Given the description of an element on the screen output the (x, y) to click on. 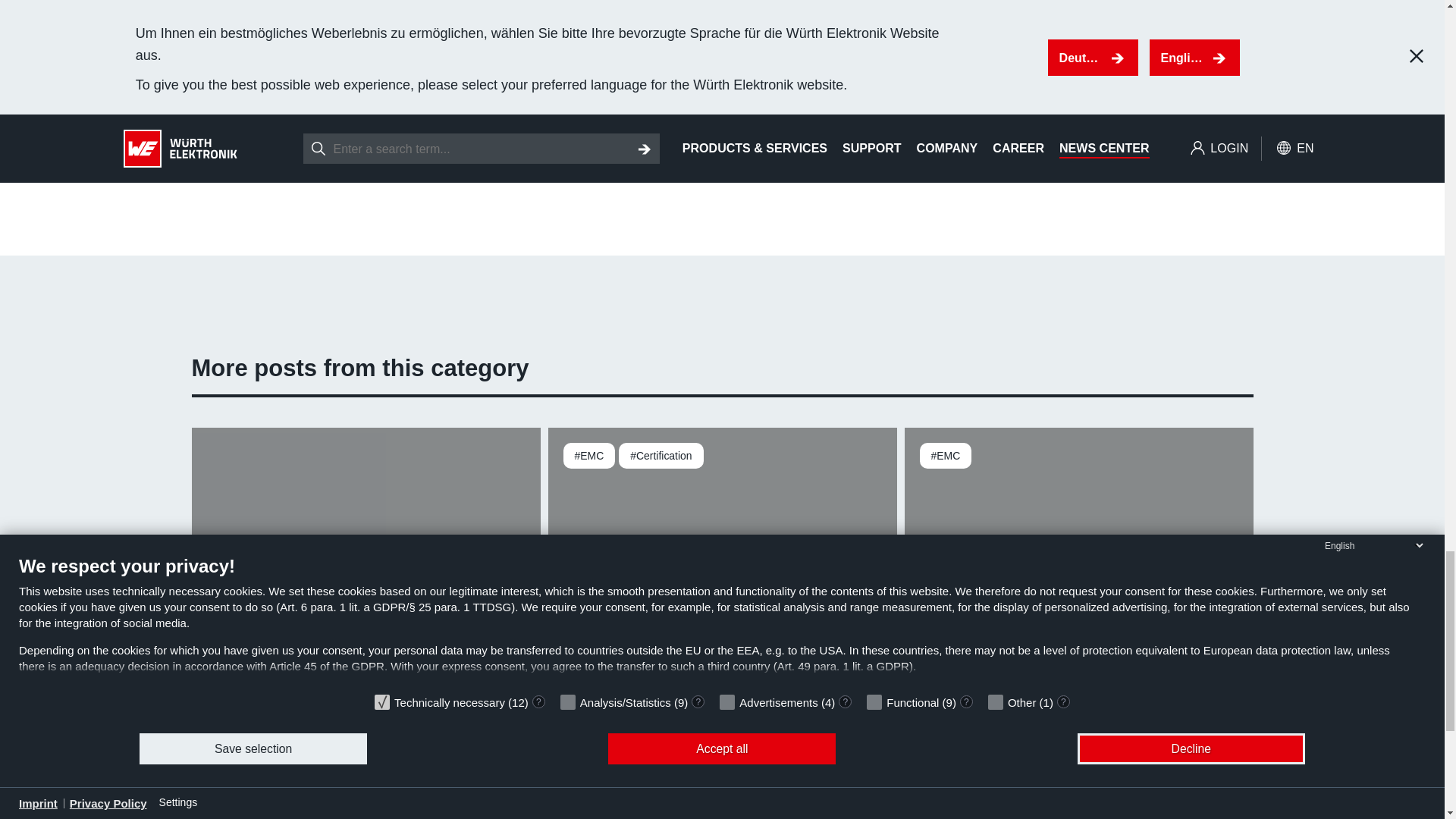
Powering the Future (365, 601)
Bei Twitter teilen (313, 144)
Bei Facebook teilen (277, 144)
Bei XING teilen (384, 144)
Bei LinkedIn teilen (349, 144)
